Given the description of an element on the screen output the (x, y) to click on. 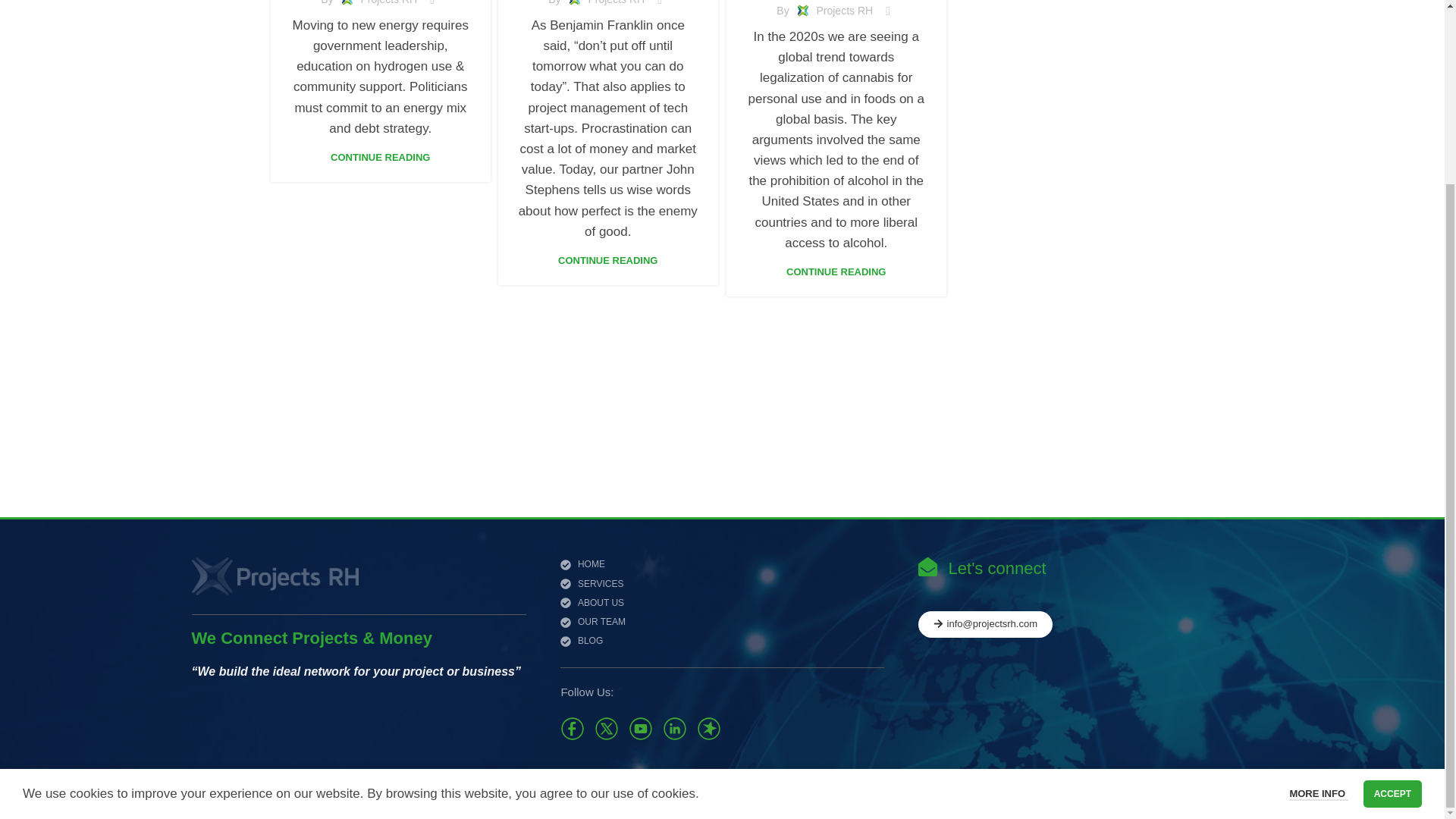
CONTINUE READING (379, 157)
Projects RH (387, 2)
Projects RH (616, 2)
